Given the description of an element on the screen output the (x, y) to click on. 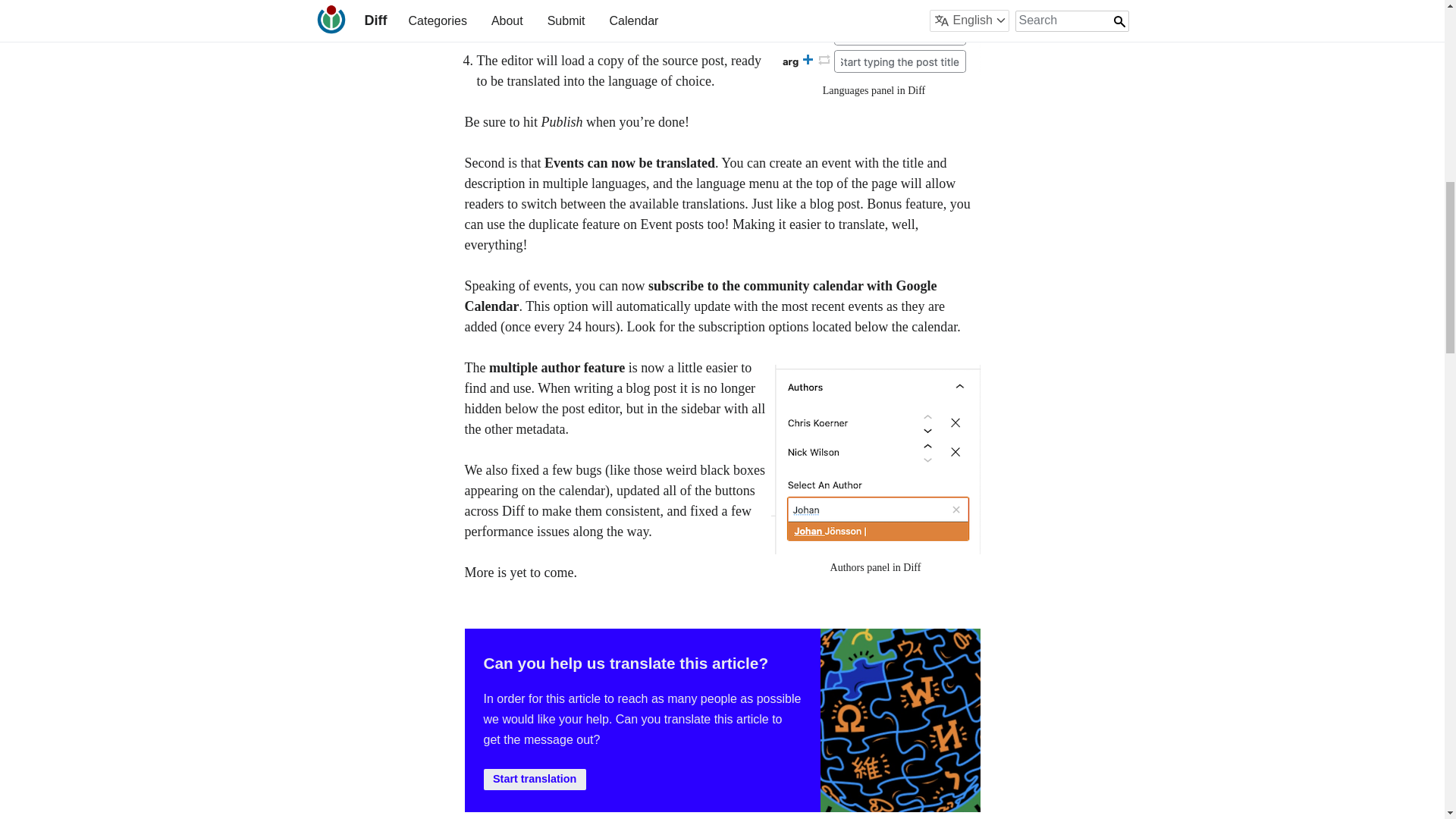
Start translation (534, 779)
